Given the description of an element on the screen output the (x, y) to click on. 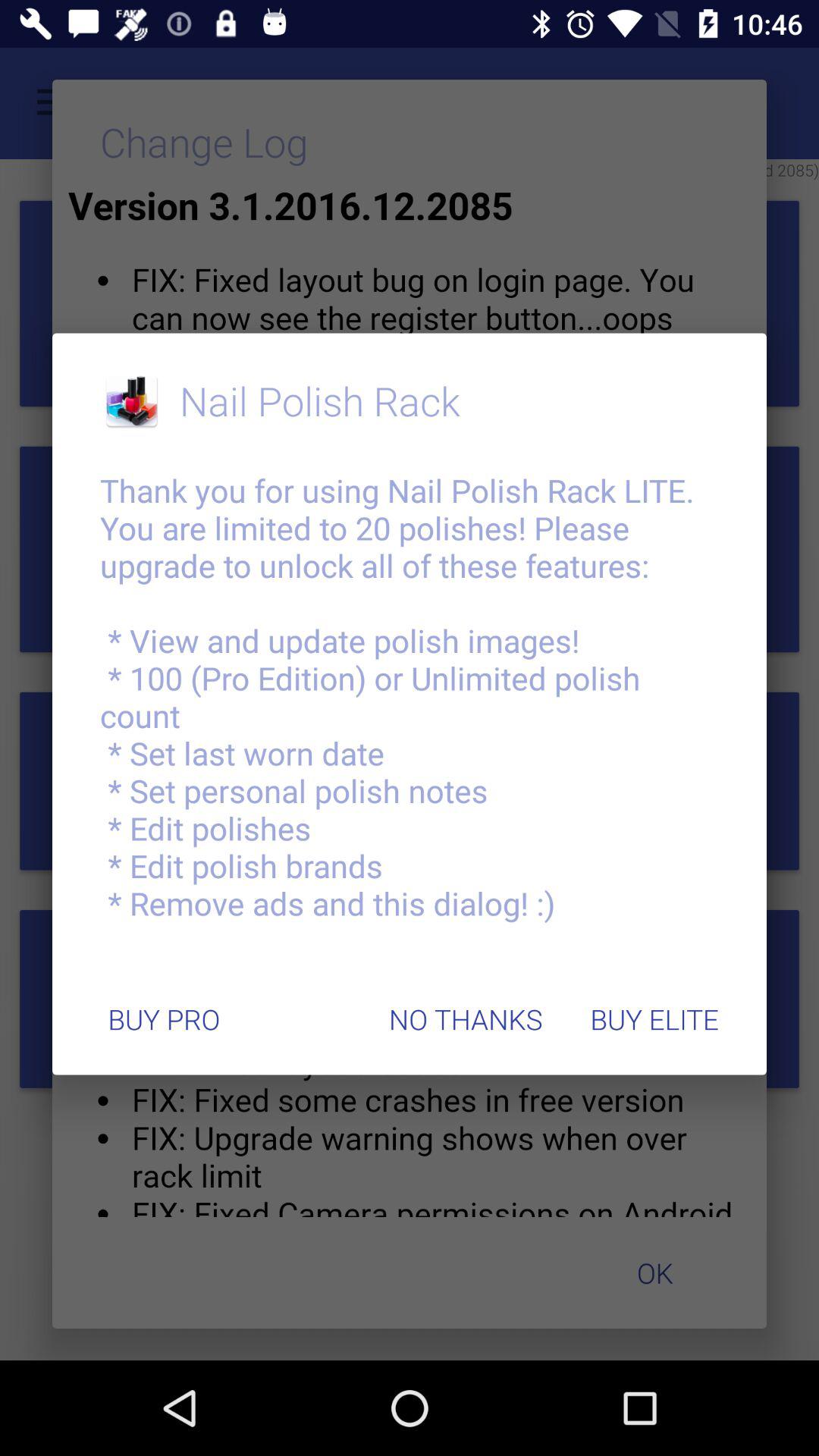
jump to the buy elite (654, 1018)
